Given the description of an element on the screen output the (x, y) to click on. 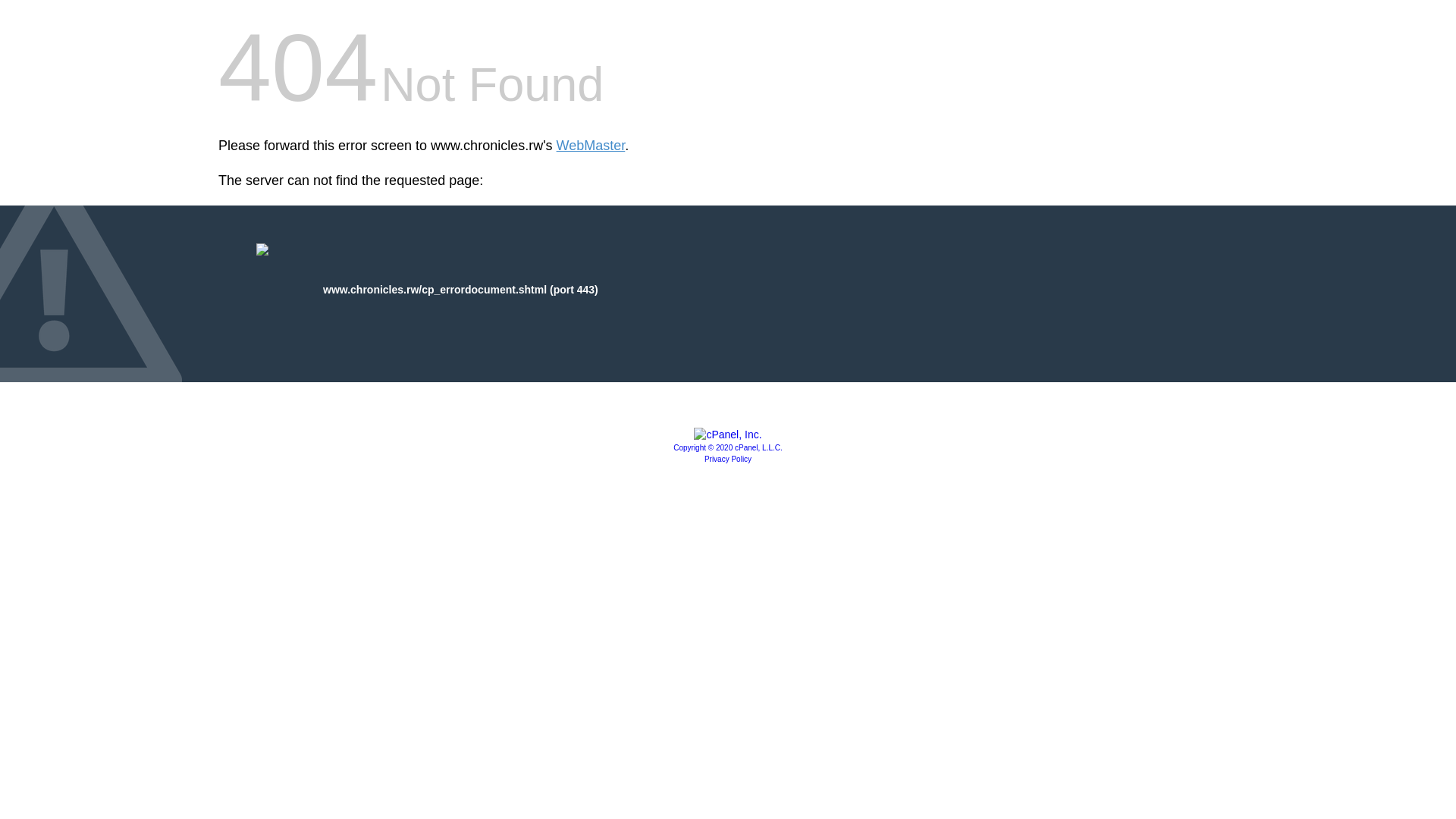
Privacy Policy (727, 459)
WebMaster (591, 145)
cPanel, Inc. (727, 434)
cPanel, Inc. (727, 447)
